Given the description of an element on the screen output the (x, y) to click on. 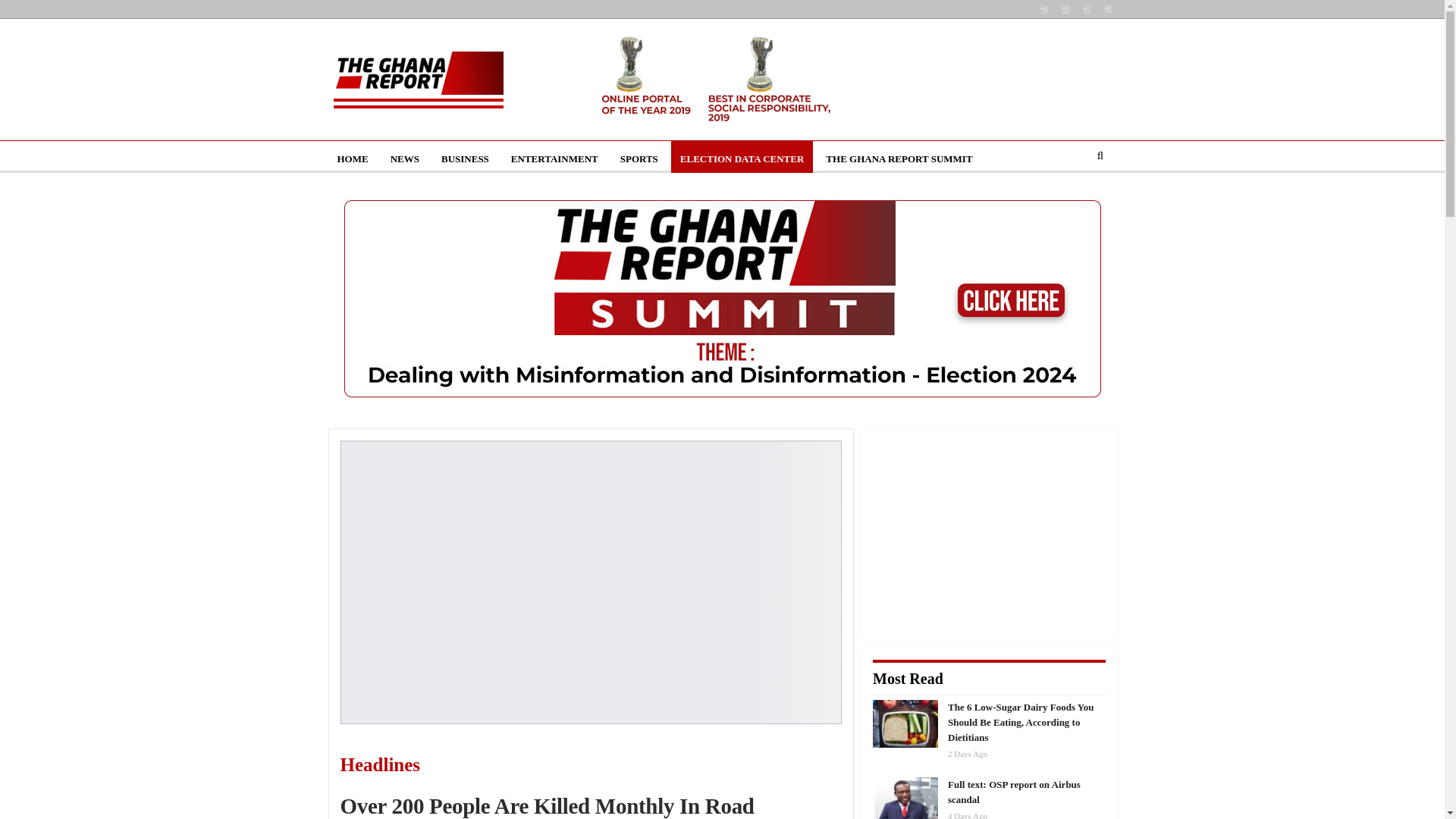
Headlines (453, 765)
NEWS (404, 158)
ENTERTAINMENT (554, 158)
ELECTION DATA CENTER (742, 158)
BUSINESS (464, 158)
THE GHANA REPORT SUMMIT (898, 158)
SPORTS (638, 158)
HOME (352, 158)
